Given the description of an element on the screen output the (x, y) to click on. 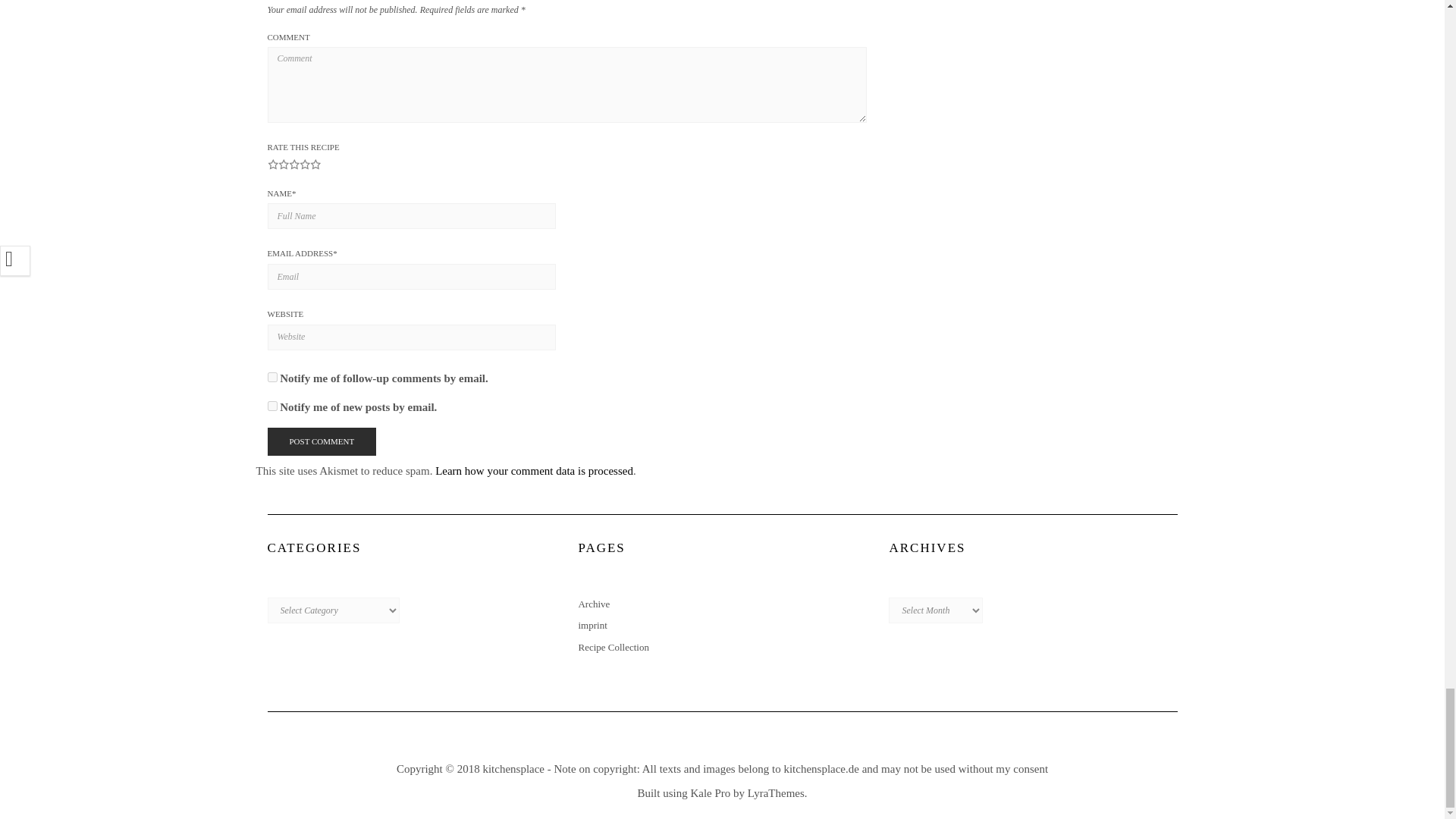
subscribe (271, 406)
subscribe (271, 377)
Post Comment (320, 441)
